Given the description of an element on the screen output the (x, y) to click on. 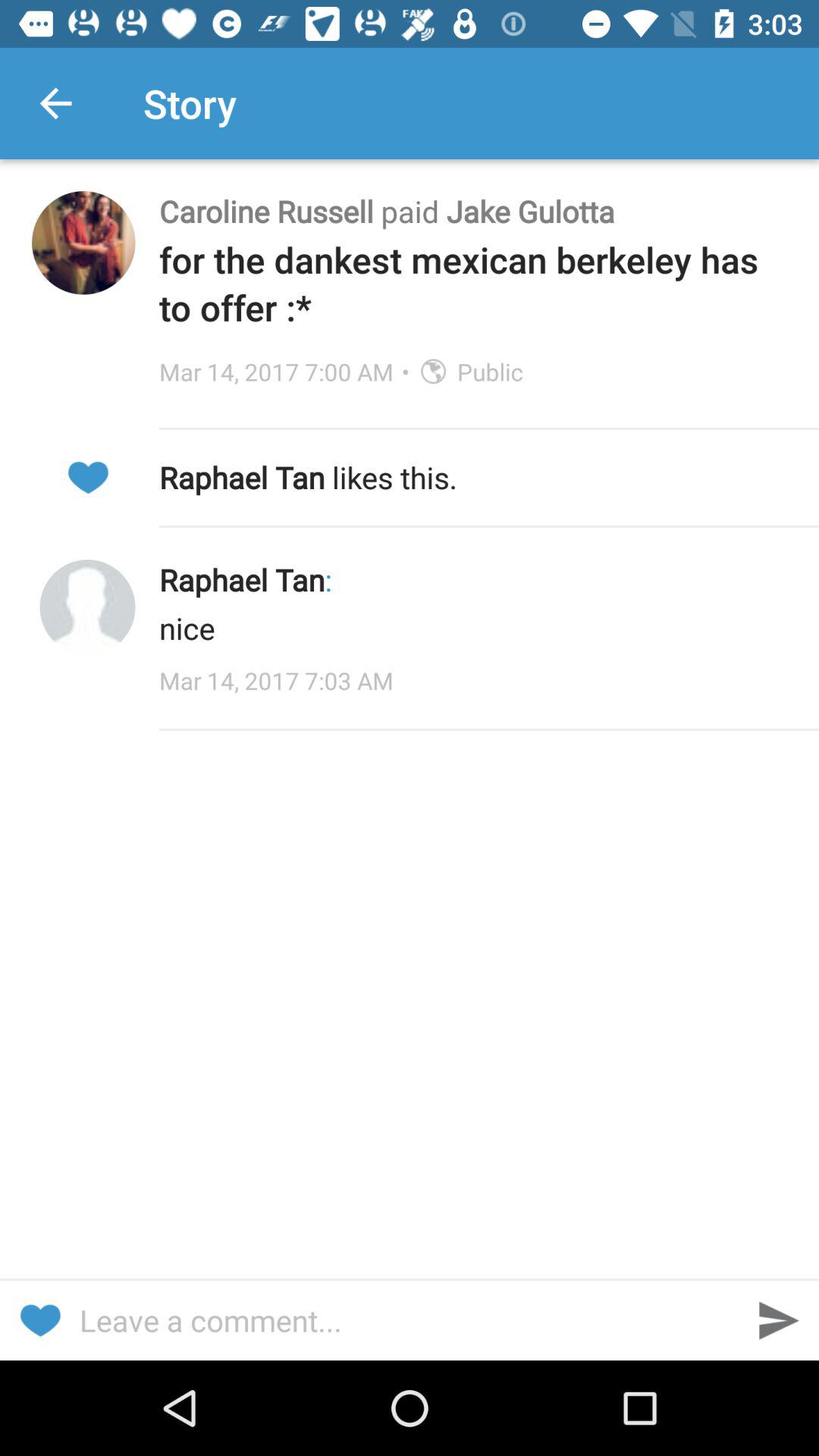
turn on icon next to raphael tan likes item (87, 477)
